Given the description of an element on the screen output the (x, y) to click on. 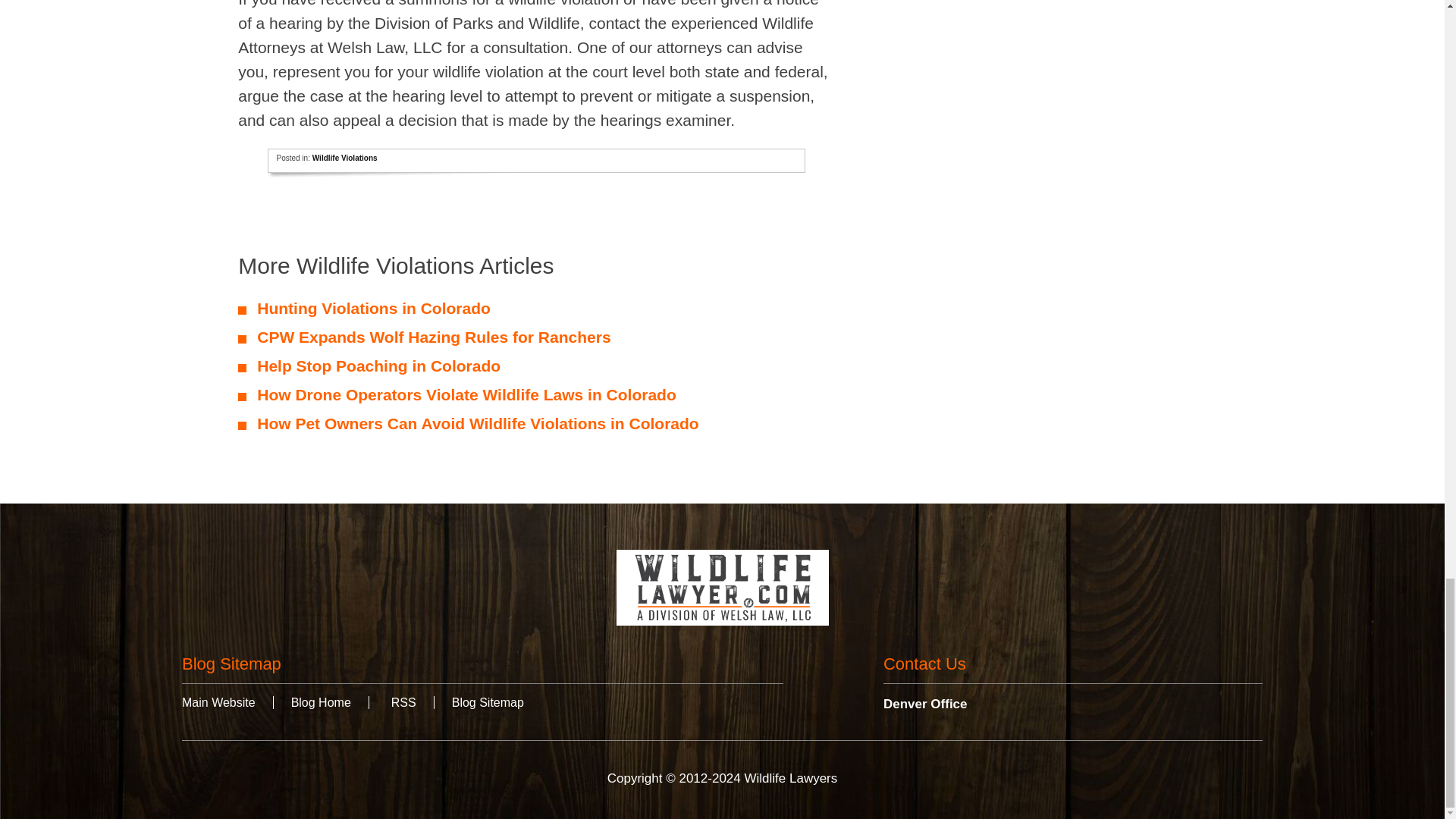
How Drone Operators Violate Wildlife Laws in Colorado (467, 394)
Help Stop Poaching in Colorado (378, 365)
Hunting Violations in Colorado (373, 307)
Wildlife Violations (345, 157)
CPW Expands Wolf Hazing Rules for Ranchers (433, 336)
How Pet Owners Can Avoid Wildlife Violations in Colorado (477, 423)
